Given the description of an element on the screen output the (x, y) to click on. 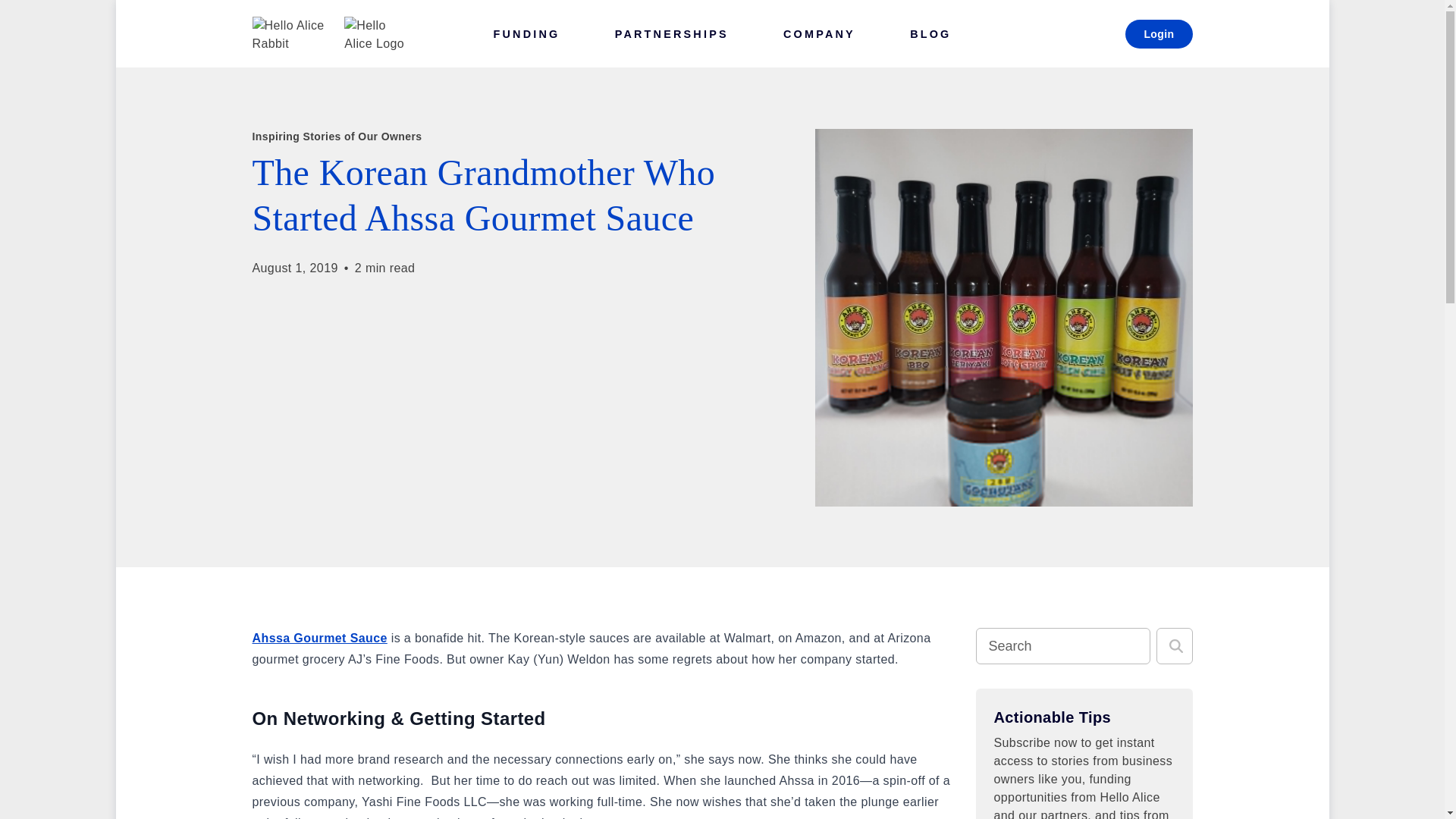
Login (1158, 33)
Ahssa Gourmet Sauce (319, 637)
PARTNERSHIPS (671, 33)
BLOG (930, 33)
FUNDING (526, 33)
Return to homepage (330, 33)
COMPANY (819, 33)
